Given the description of an element on the screen output the (x, y) to click on. 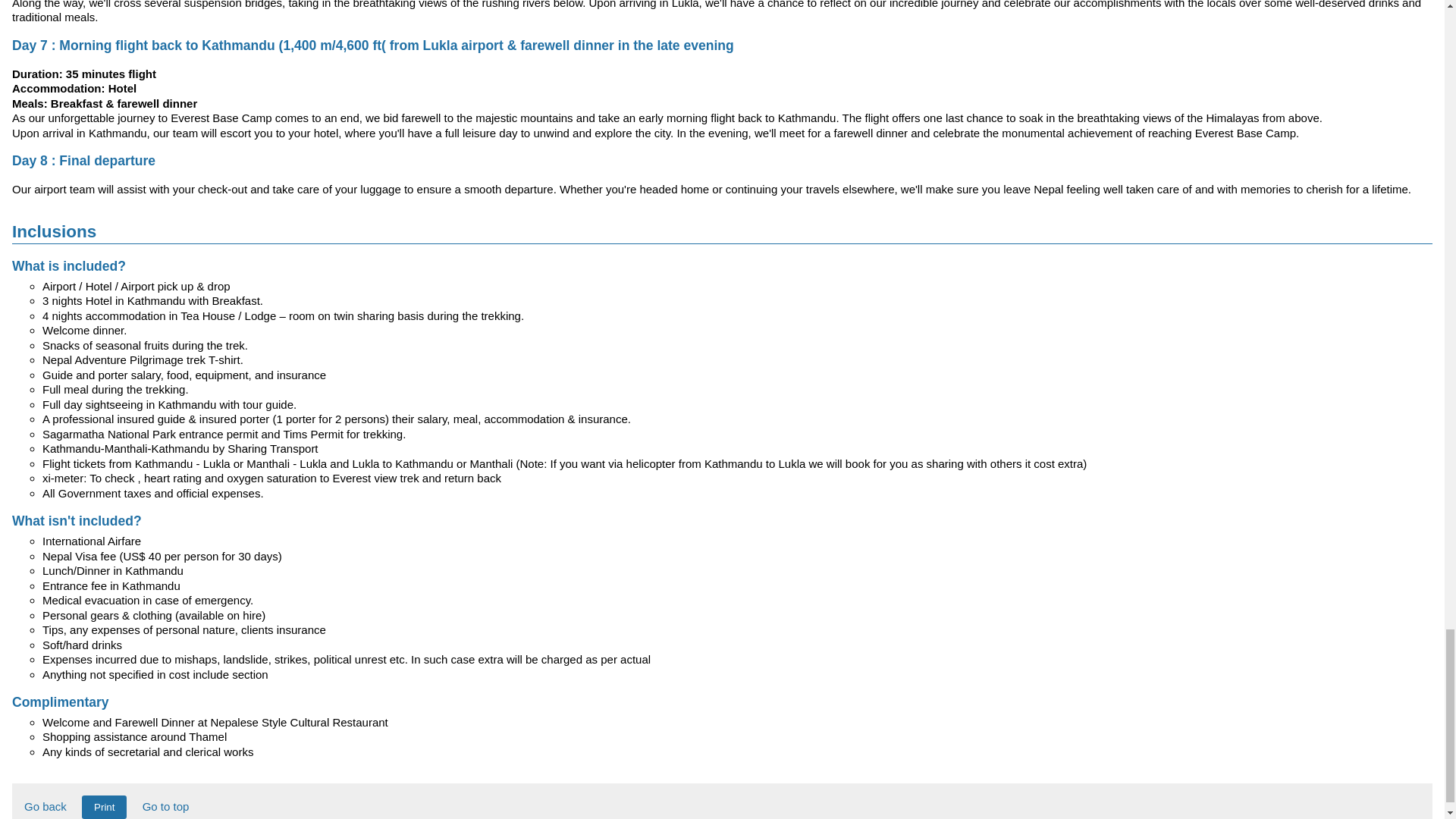
Go to top (165, 806)
Go back (45, 806)
